Given the description of an element on the screen output the (x, y) to click on. 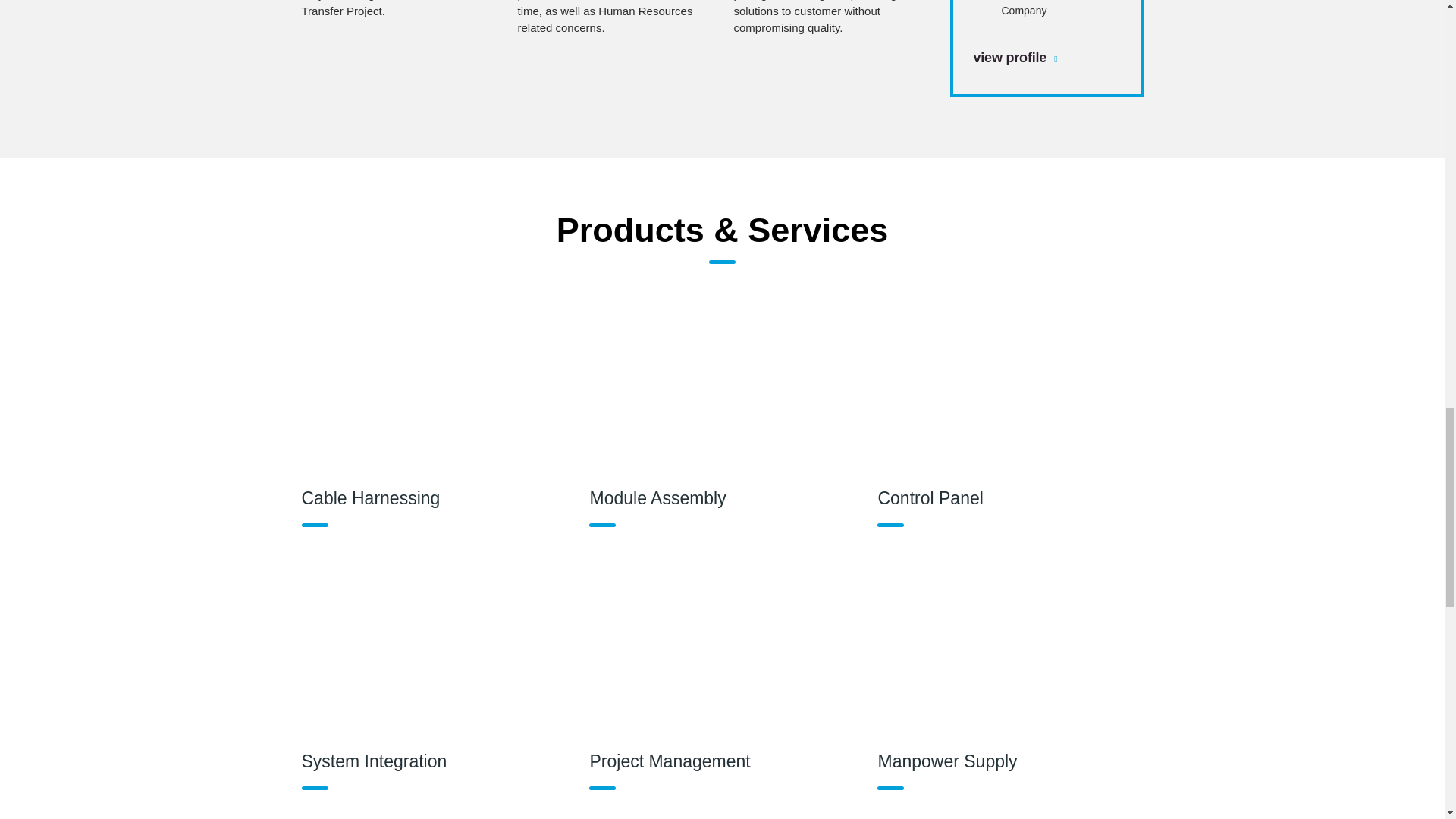
read more (830, 18)
view profile (1016, 56)
read more (398, 9)
read more (613, 18)
